Given the description of an element on the screen output the (x, y) to click on. 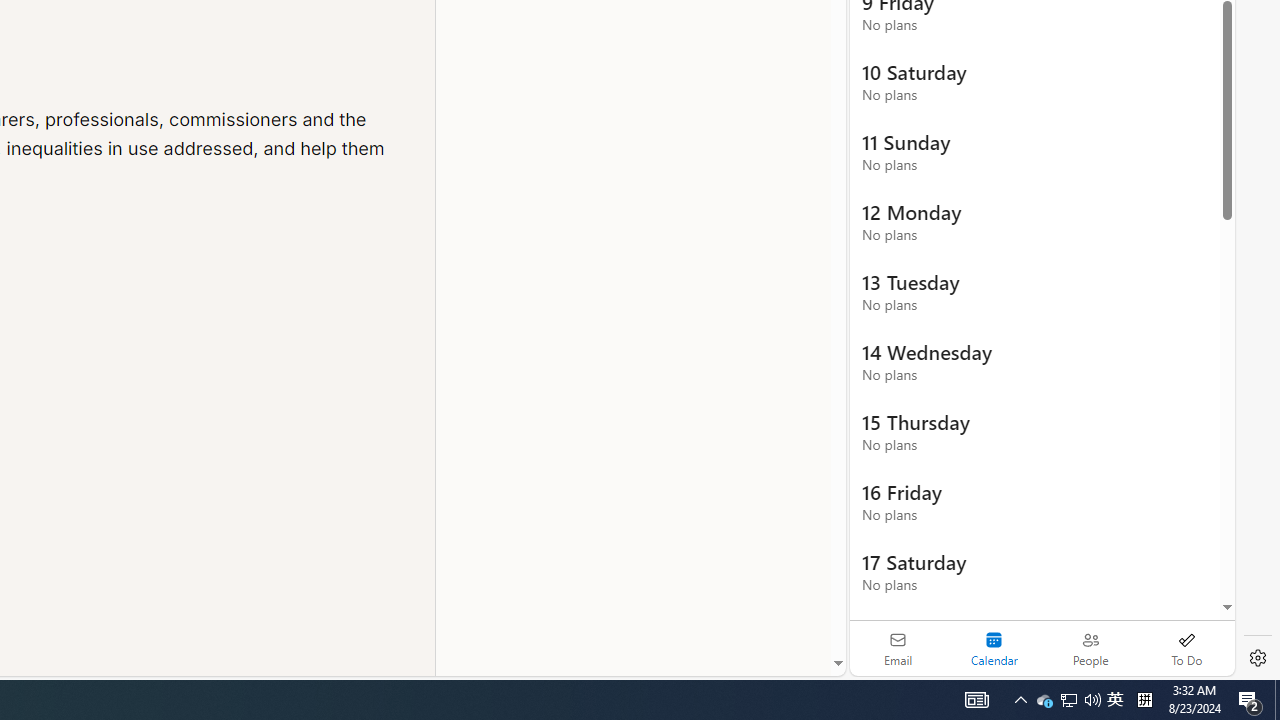
Email (898, 648)
People (1090, 648)
Settings (1258, 658)
Selected calendar module. Date today is 22 (994, 648)
To Do (1186, 648)
